Given the description of an element on the screen output the (x, y) to click on. 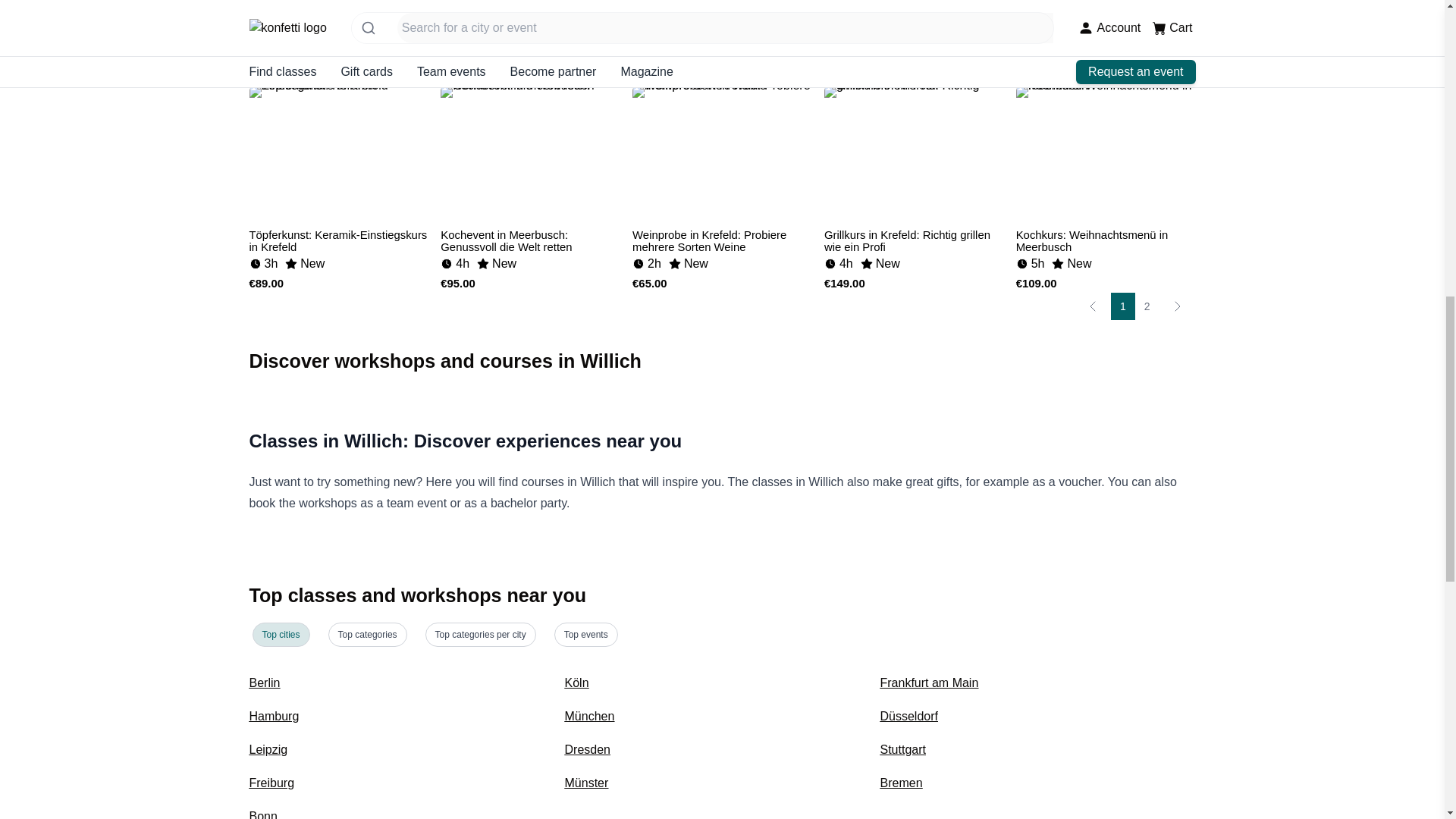
1 (1122, 306)
Weinprobe in Krefeld: Probiere mehrere Sorten Weine (721, 236)
Hamburg (273, 716)
2 (1147, 306)
Kochevent in Meerbusch: Genussvoll die Welt retten (530, 236)
Aktzeichnen in Krefeld: Lerne, ein Aktmodell zu zeichnen (1105, 17)
Berlin (263, 682)
Grillkurs in Krefeld: Richtig grillen wie ein Profi (914, 236)
Frankfurt am Main (928, 682)
